Given the description of an element on the screen output the (x, y) to click on. 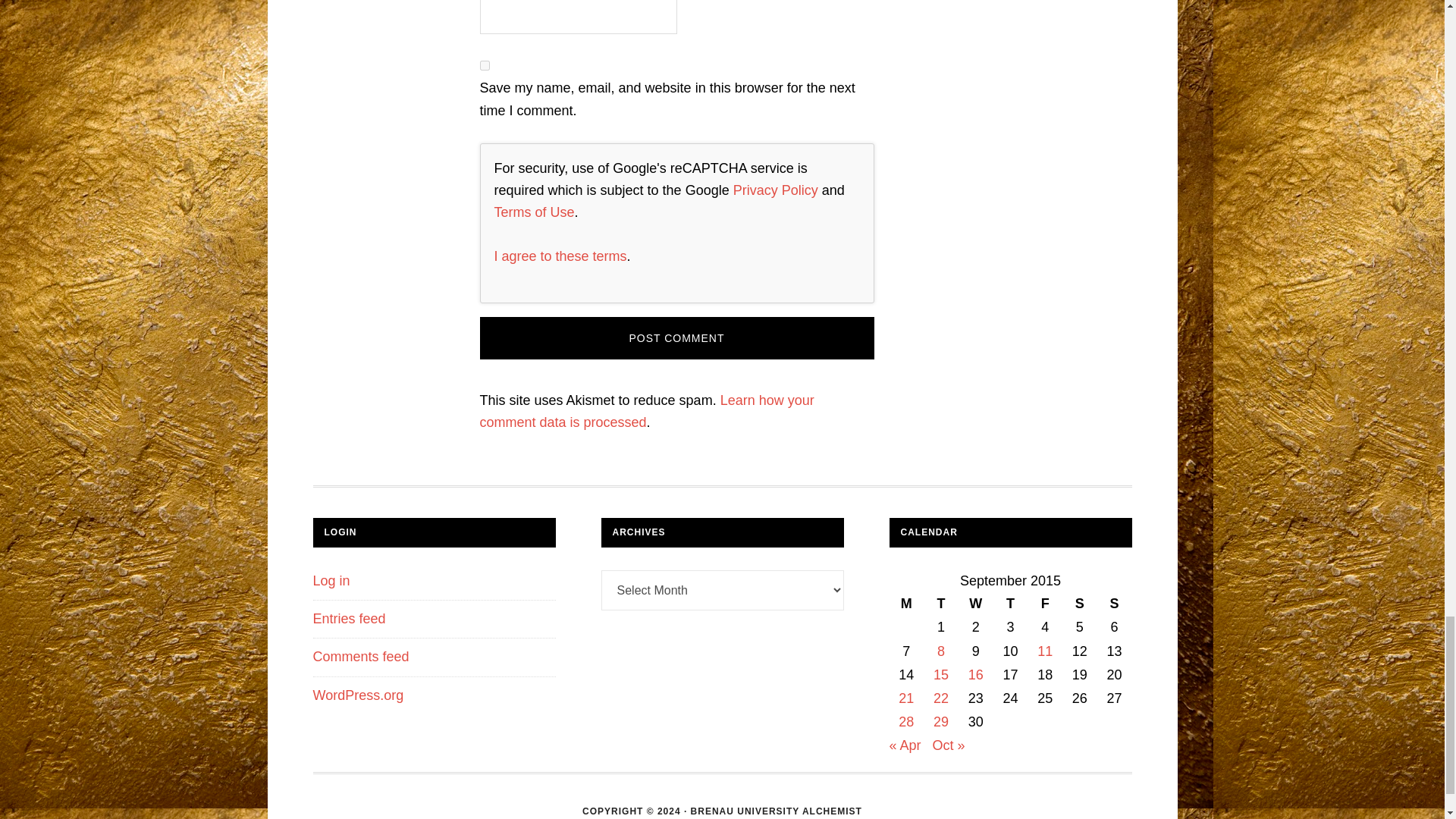
11 (1044, 651)
Learn how your comment data is processed (646, 411)
Terms of Use (535, 212)
Friday (1044, 603)
Log in (331, 580)
22 (941, 698)
Entries feed (349, 618)
15 (941, 674)
16 (976, 674)
yes (484, 65)
